Given the description of an element on the screen output the (x, y) to click on. 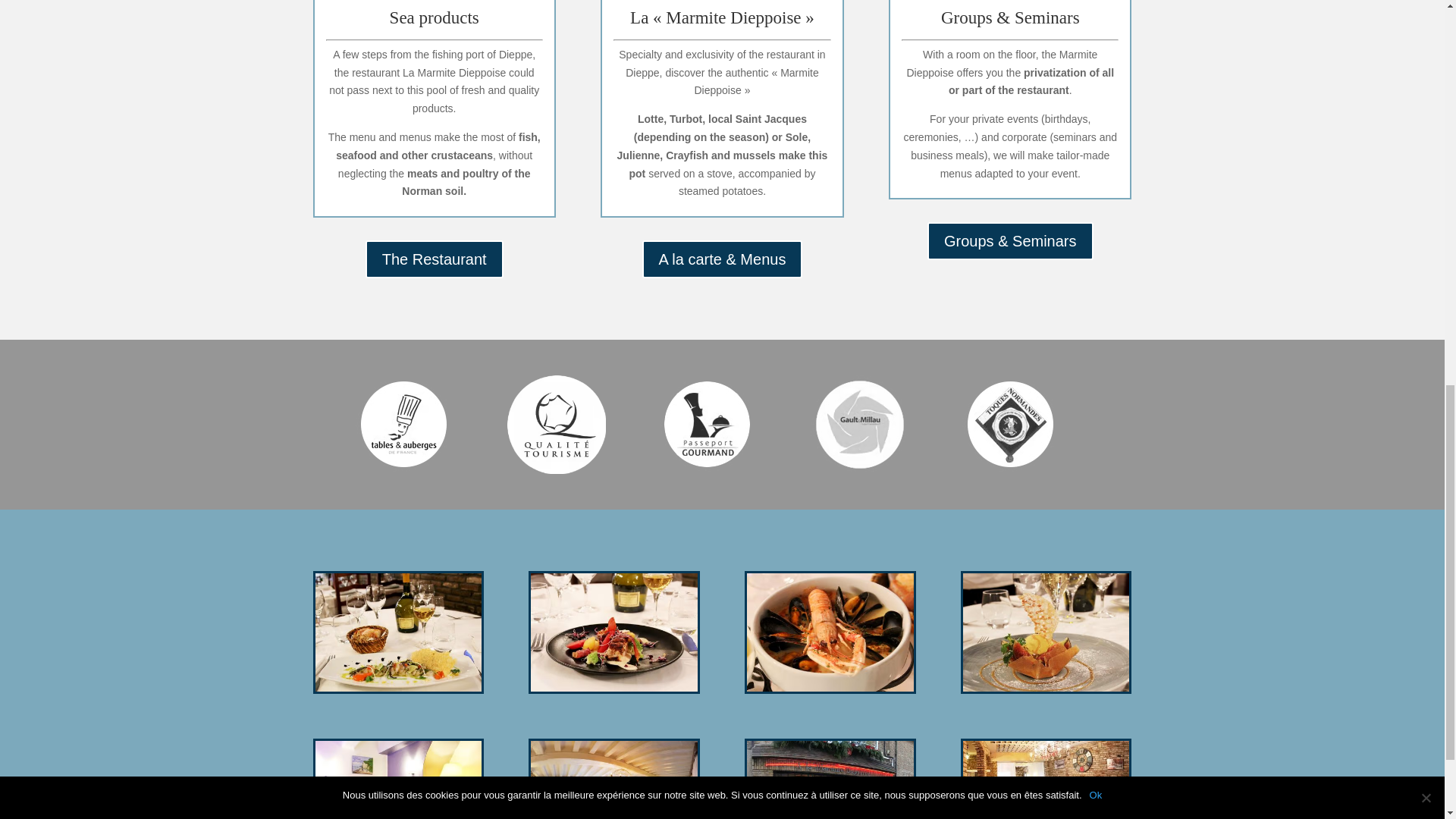
restaurant dieppe toque normande (403, 424)
The Restaurant (434, 259)
